Given the description of an element on the screen output the (x, y) to click on. 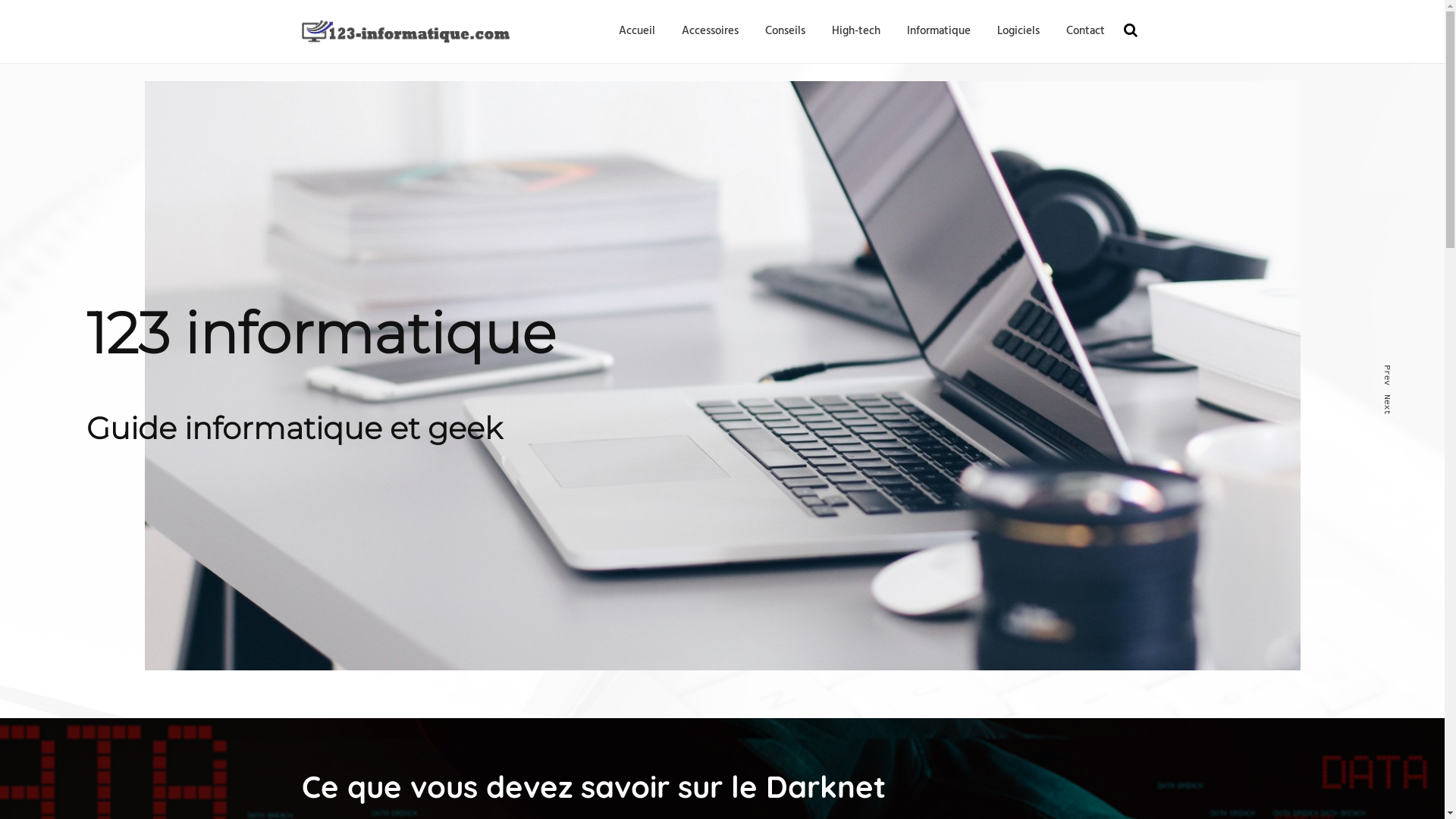
Informatique Element type: text (938, 30)
Accessoires Element type: text (708, 30)
123 informatique Element type: text (384, 60)
Accueil Element type: text (636, 30)
Next Element type: text (1392, 398)
Prev Element type: text (1392, 369)
Contact Element type: text (1085, 30)
Logiciels Element type: text (1017, 30)
Conseils Element type: text (784, 30)
High-tech Element type: text (855, 30)
